Given the description of an element on the screen output the (x, y) to click on. 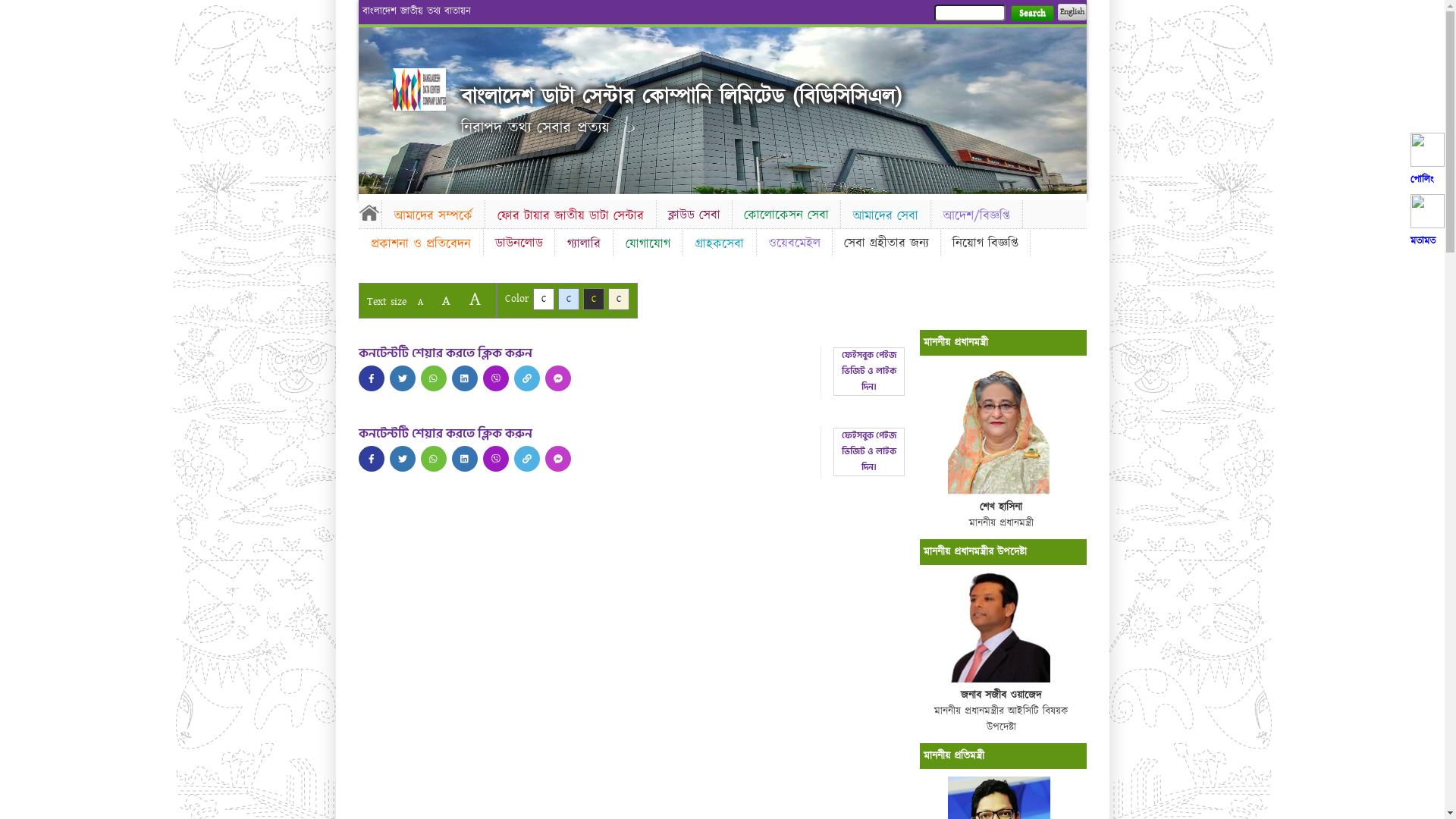
Home Element type: hover (418, 89)
C Element type: text (568, 299)
Search Element type: text (1031, 13)
A Element type: text (445, 300)
A Element type: text (474, 298)
C Element type: text (592, 299)
English Element type: text (1071, 11)
C Element type: text (618, 299)
Home Element type: hover (368, 211)
A Element type: text (419, 301)
C Element type: text (542, 299)
